Given the description of an element on the screen output the (x, y) to click on. 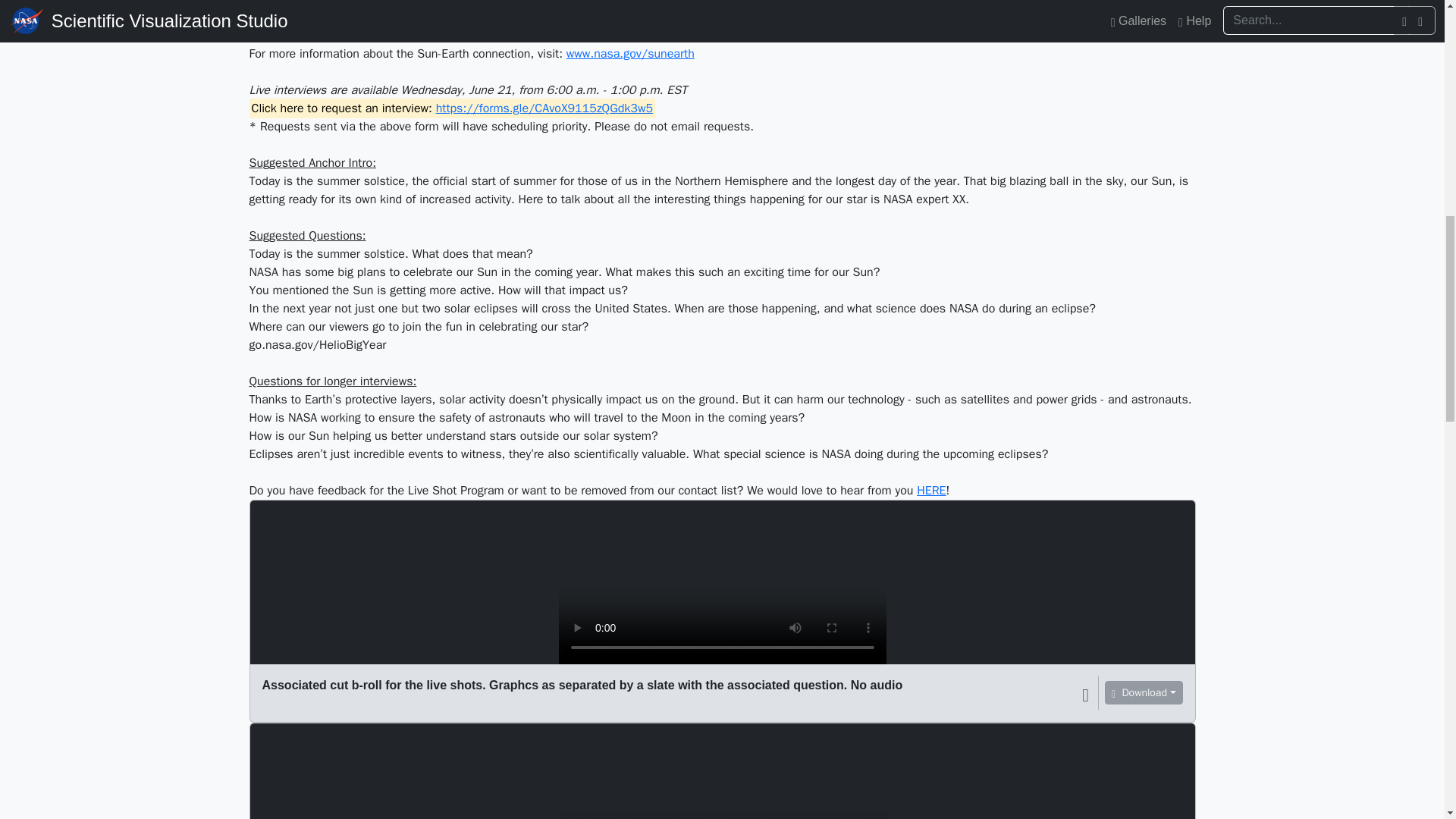
Download (1143, 692)
HERE (930, 490)
